Given the description of an element on the screen output the (x, y) to click on. 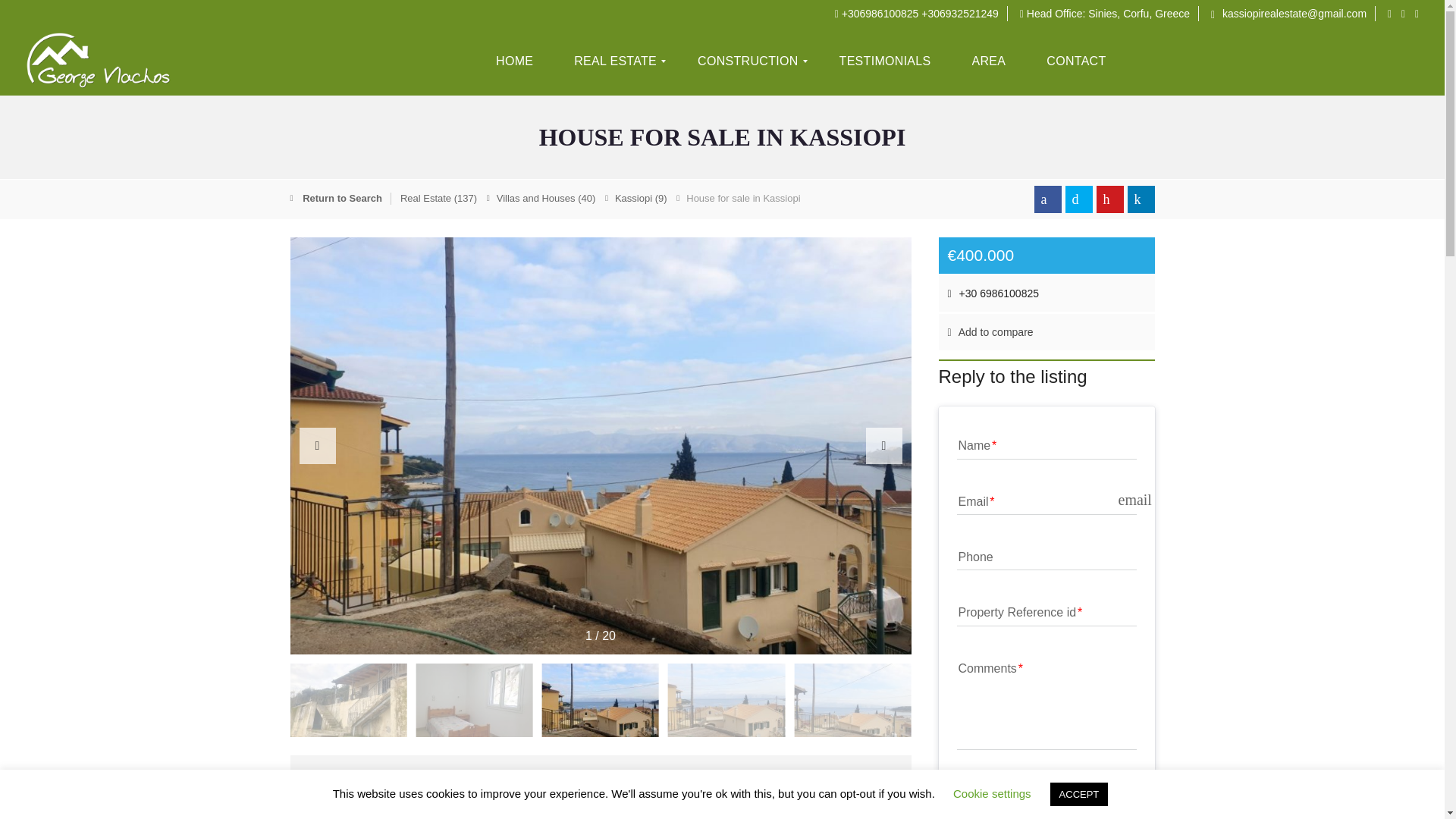
Share on Share on Facebook (1047, 198)
CONTACT (1075, 61)
Kassiopi (640, 197)
Return to Search (343, 198)
Share on Pin it (1110, 198)
REAL ESTATE (614, 61)
Share on Tweet (1078, 198)
Real Estate (438, 197)
TESTIMONIALS (885, 61)
For Sale (403, 799)
Villas and Houses (545, 197)
Kassiopi (674, 799)
Share on LinkedIn (1140, 198)
Sinies, Corfu, Greece (1138, 13)
CONSTRUCTION (747, 61)
